Given the description of an element on the screen output the (x, y) to click on. 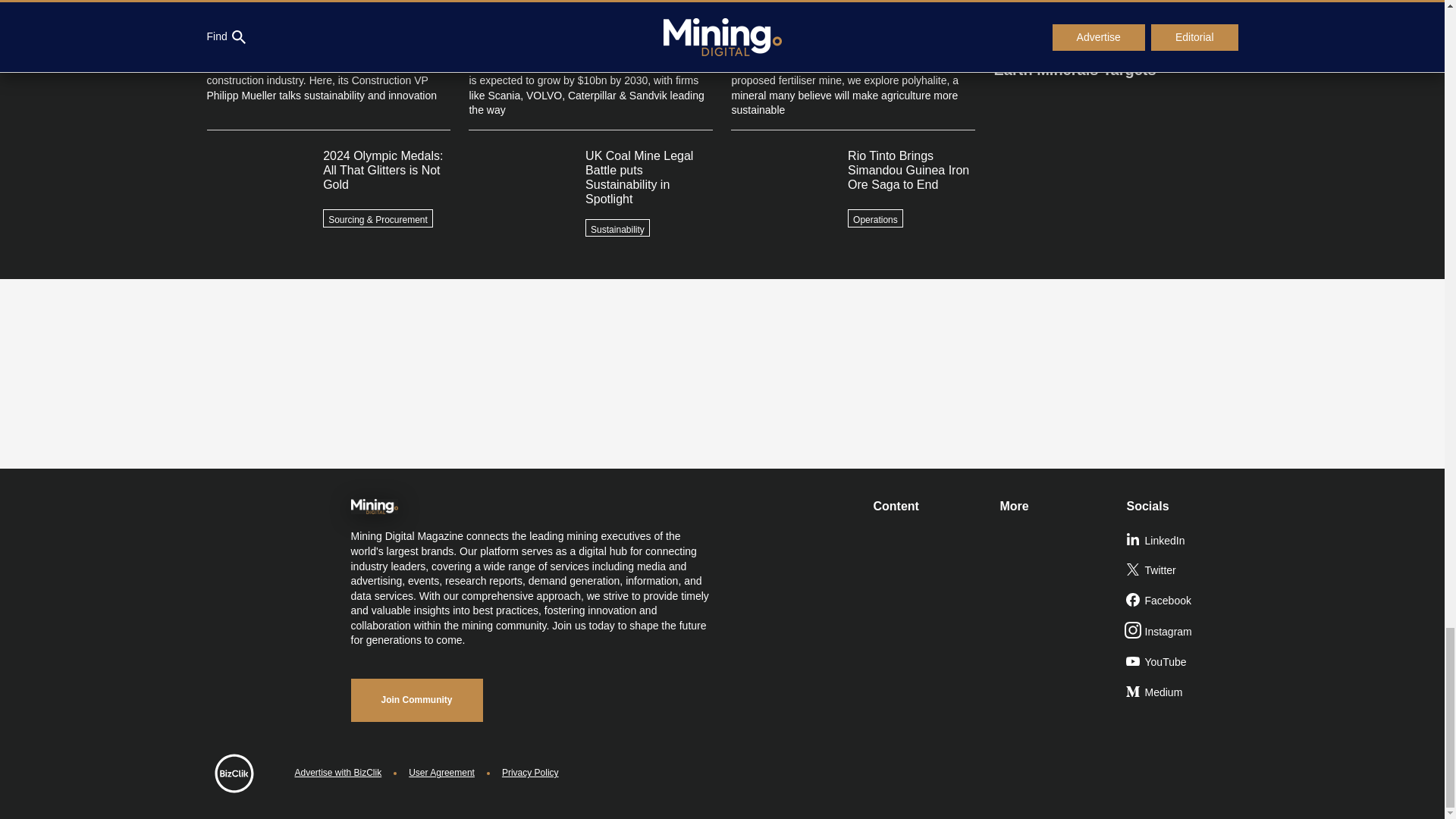
Facebook (1182, 601)
EU 'Falling Short' of CRMA Rare Earth Minerals Targets (1114, 53)
Focus on: Gypsum, a Building Block for World Construction (1114, 13)
LinkedIn (1182, 541)
Join Community (415, 699)
Twitter (1182, 571)
